Given the description of an element on the screen output the (x, y) to click on. 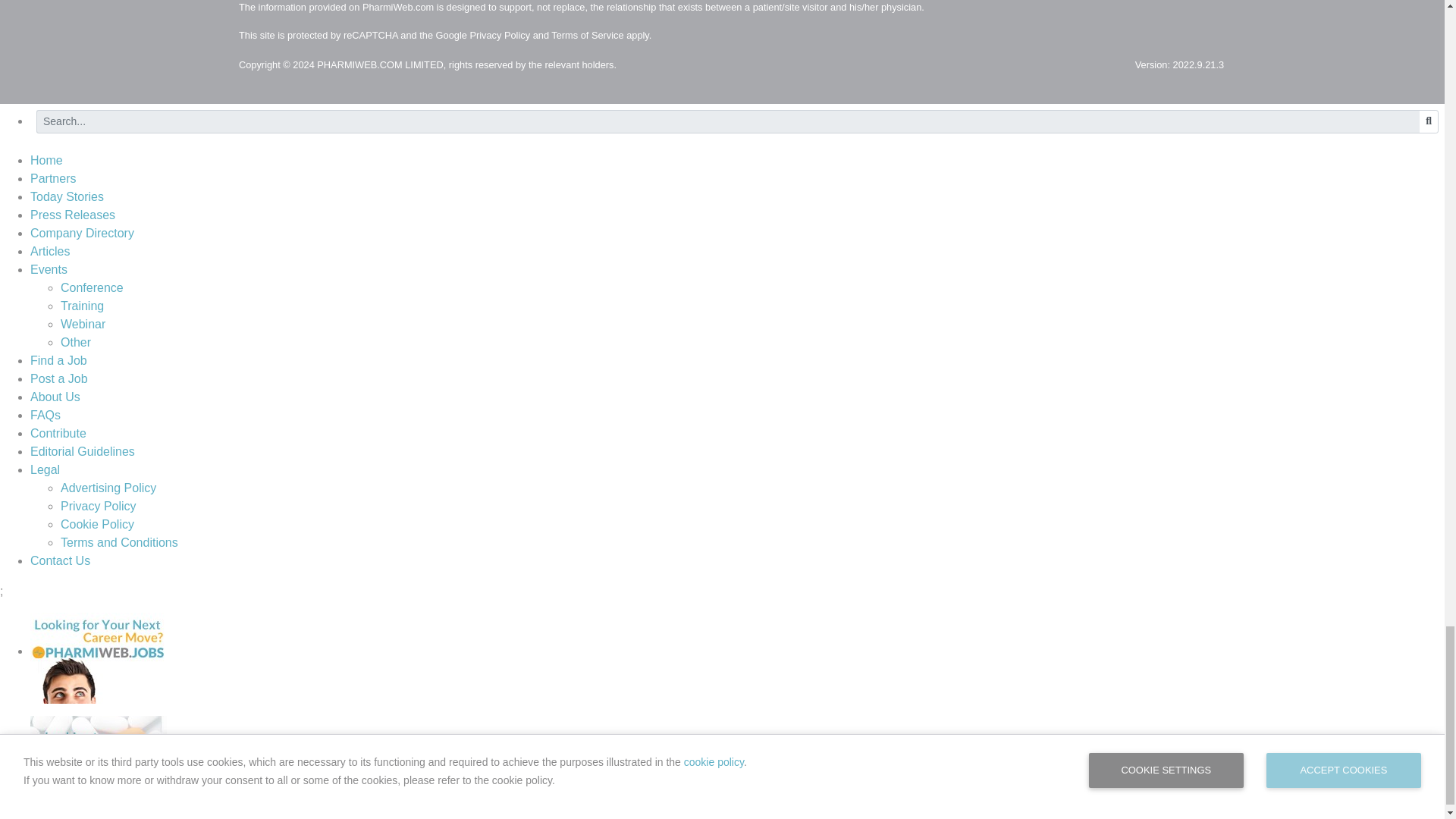
Articles (49, 250)
Press Releases (72, 214)
Company Directory (81, 232)
Events (48, 269)
Training (82, 305)
Other (75, 341)
Home (46, 160)
Partners (52, 178)
Terms of Service (587, 34)
Conference (92, 287)
